Given the description of an element on the screen output the (x, y) to click on. 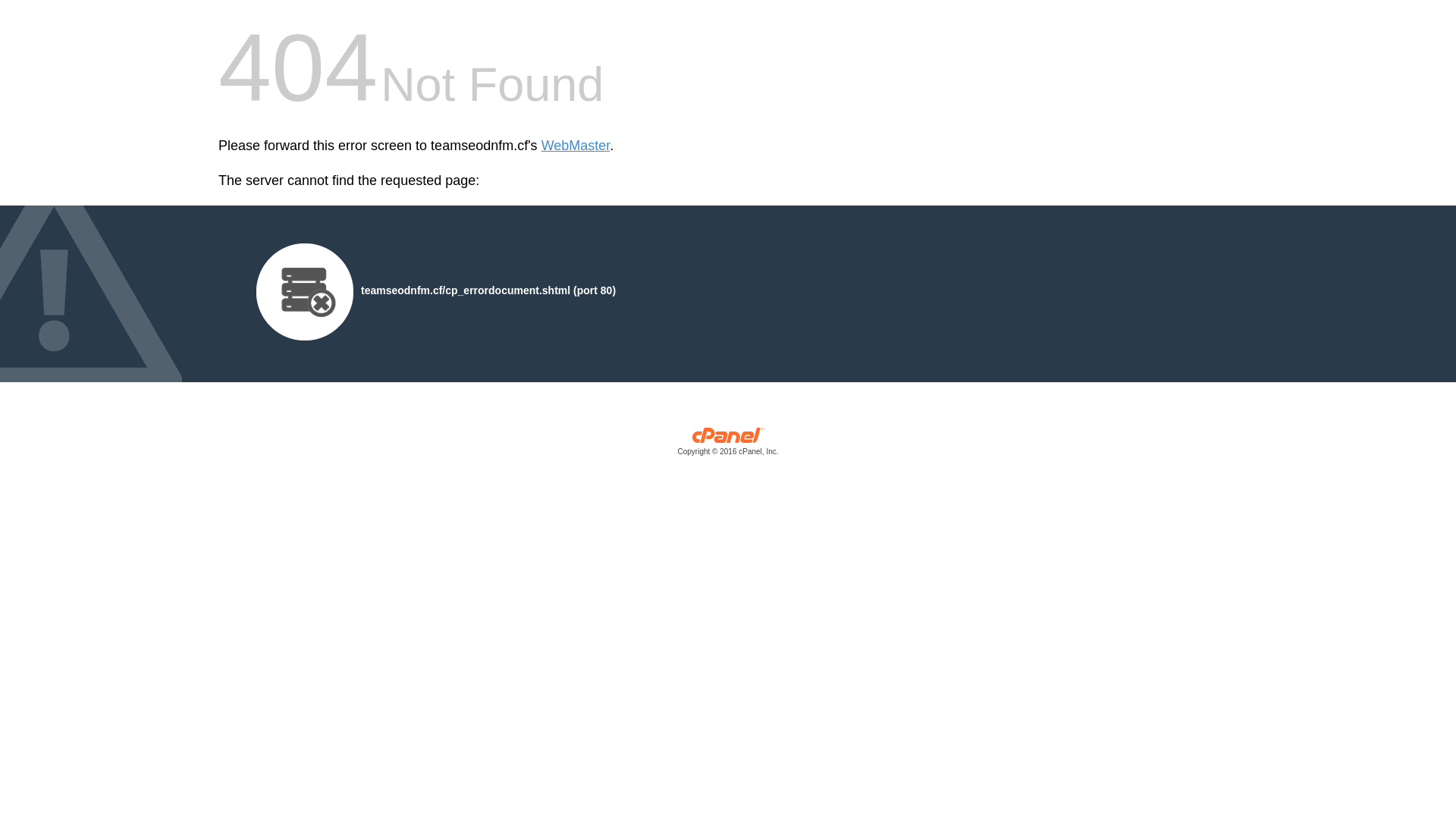
WebMaster Element type: text (575, 145)
